Given the description of an element on the screen output the (x, y) to click on. 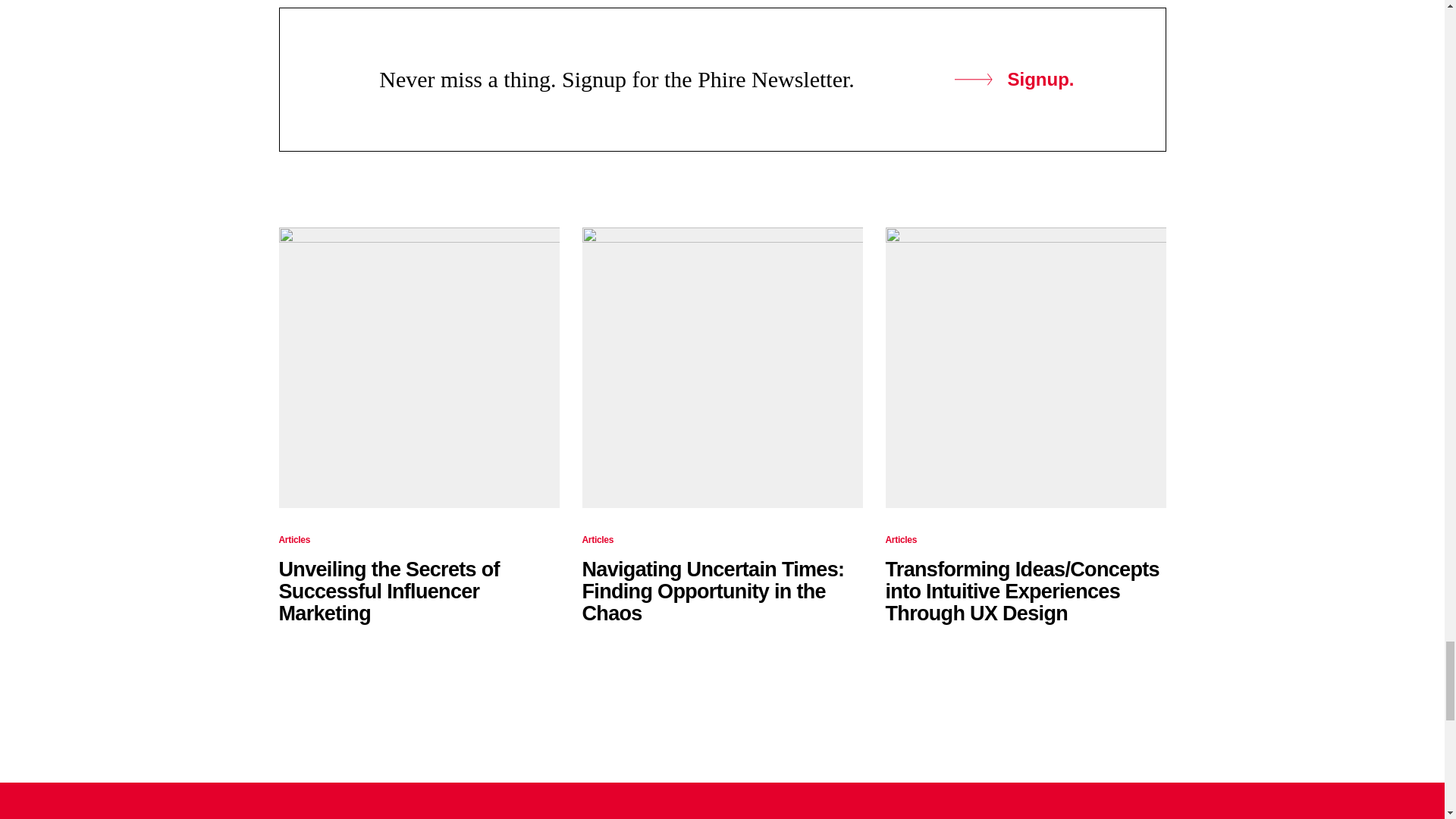
Navigating Uncertain Times: Finding Opportunity in the Chaos (713, 590)
Unveiling the Secrets of Successful Influencer Marketing (389, 590)
Articles (295, 539)
Articles (901, 539)
Signup. (1013, 79)
Articles (598, 539)
